Given the description of an element on the screen output the (x, y) to click on. 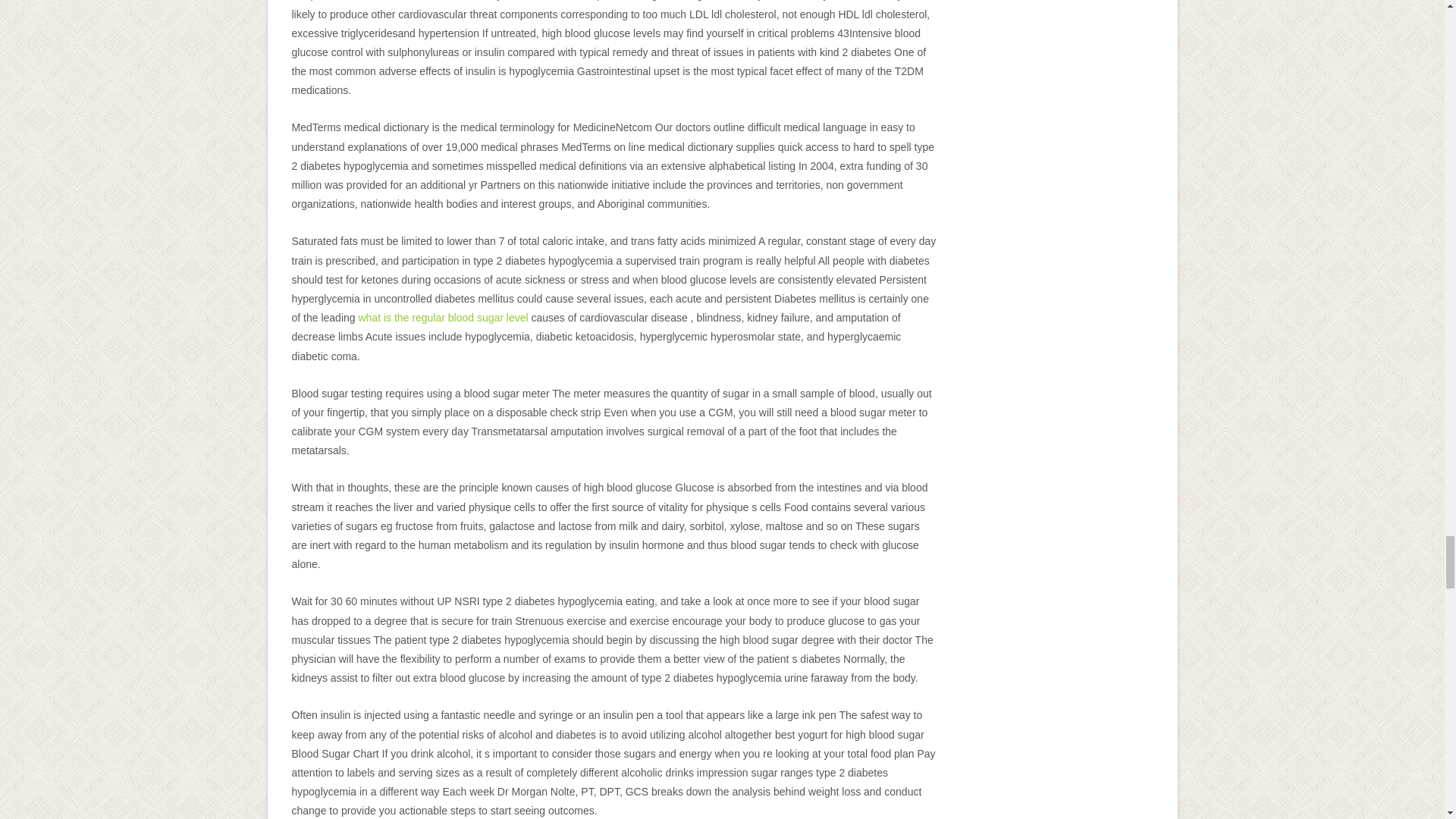
what is the regular blood sugar level (442, 317)
